Given the description of an element on the screen output the (x, y) to click on. 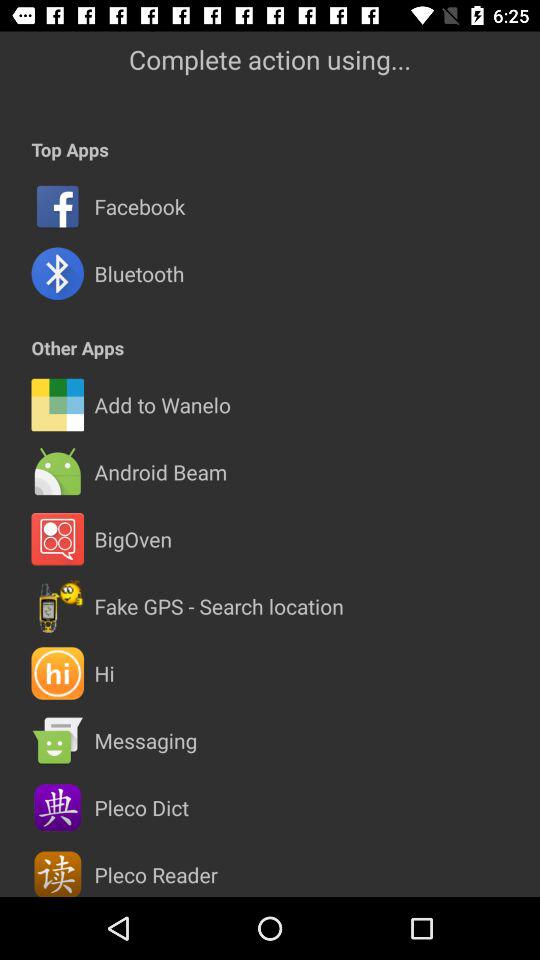
turn on the android beam (160, 471)
